Given the description of an element on the screen output the (x, y) to click on. 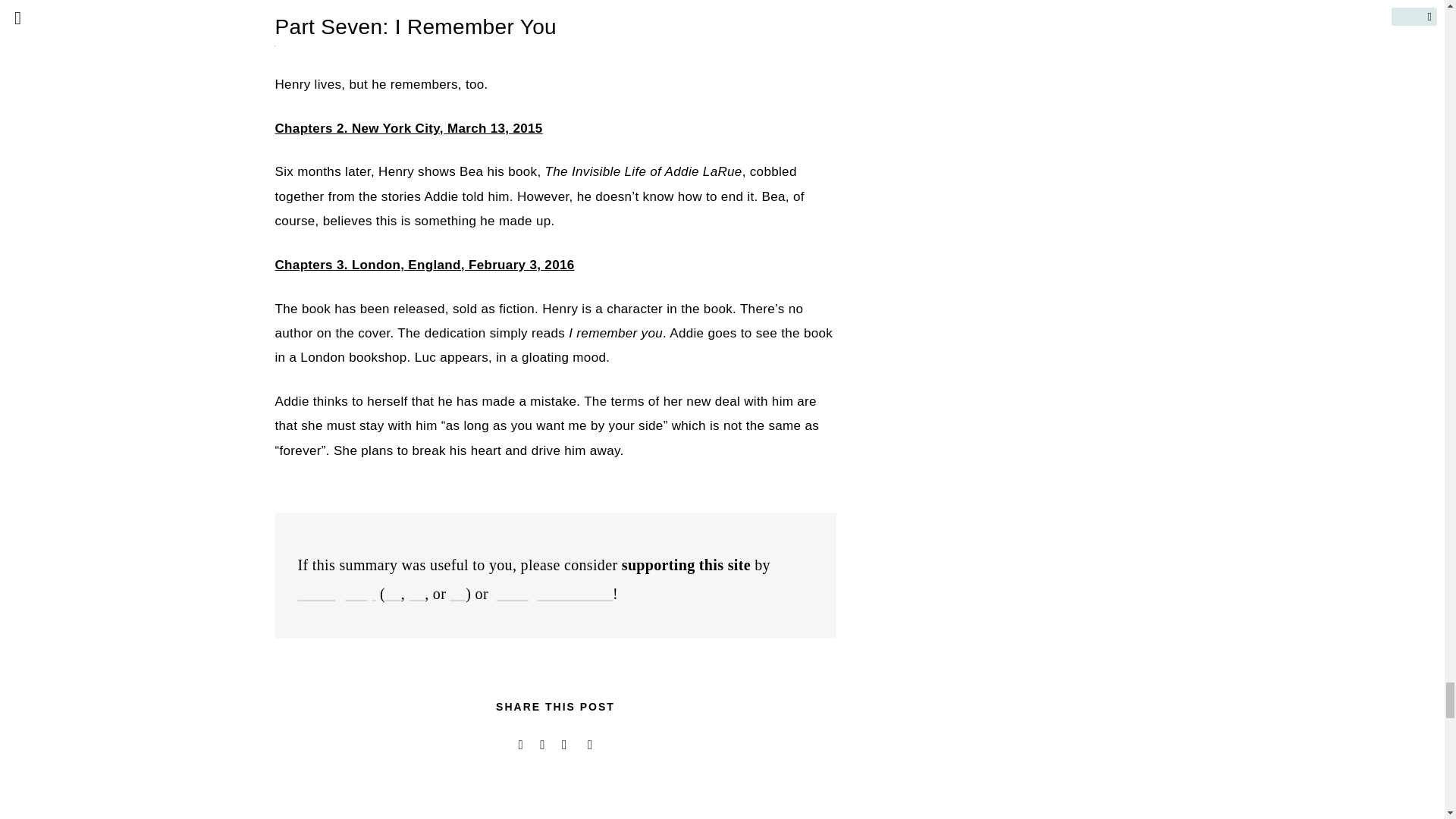
Tweet This (520, 744)
